Given the description of an element on the screen output the (x, y) to click on. 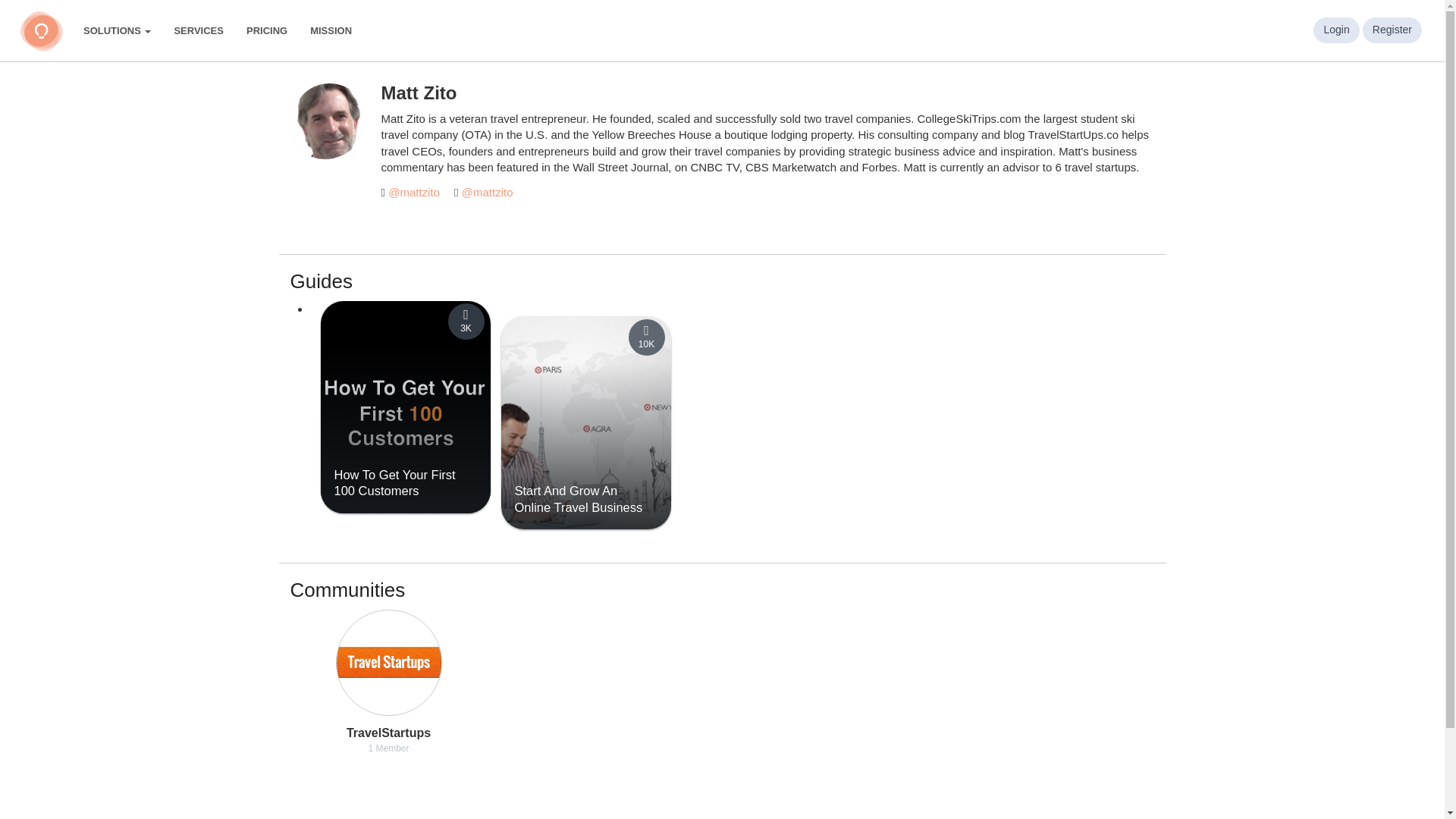
View Start And Grow An Online Travel Business on Guides (577, 498)
PRICING (266, 30)
Start And Grow An Online Travel Business (577, 498)
Matt  Zito (327, 120)
Login (1335, 30)
Register (1392, 30)
How To Get Your First 100 Customers (393, 482)
View How To Get Your First 100 Customers on Guides (393, 482)
MISSION (330, 30)
SERVICES (197, 30)
